Given the description of an element on the screen output the (x, y) to click on. 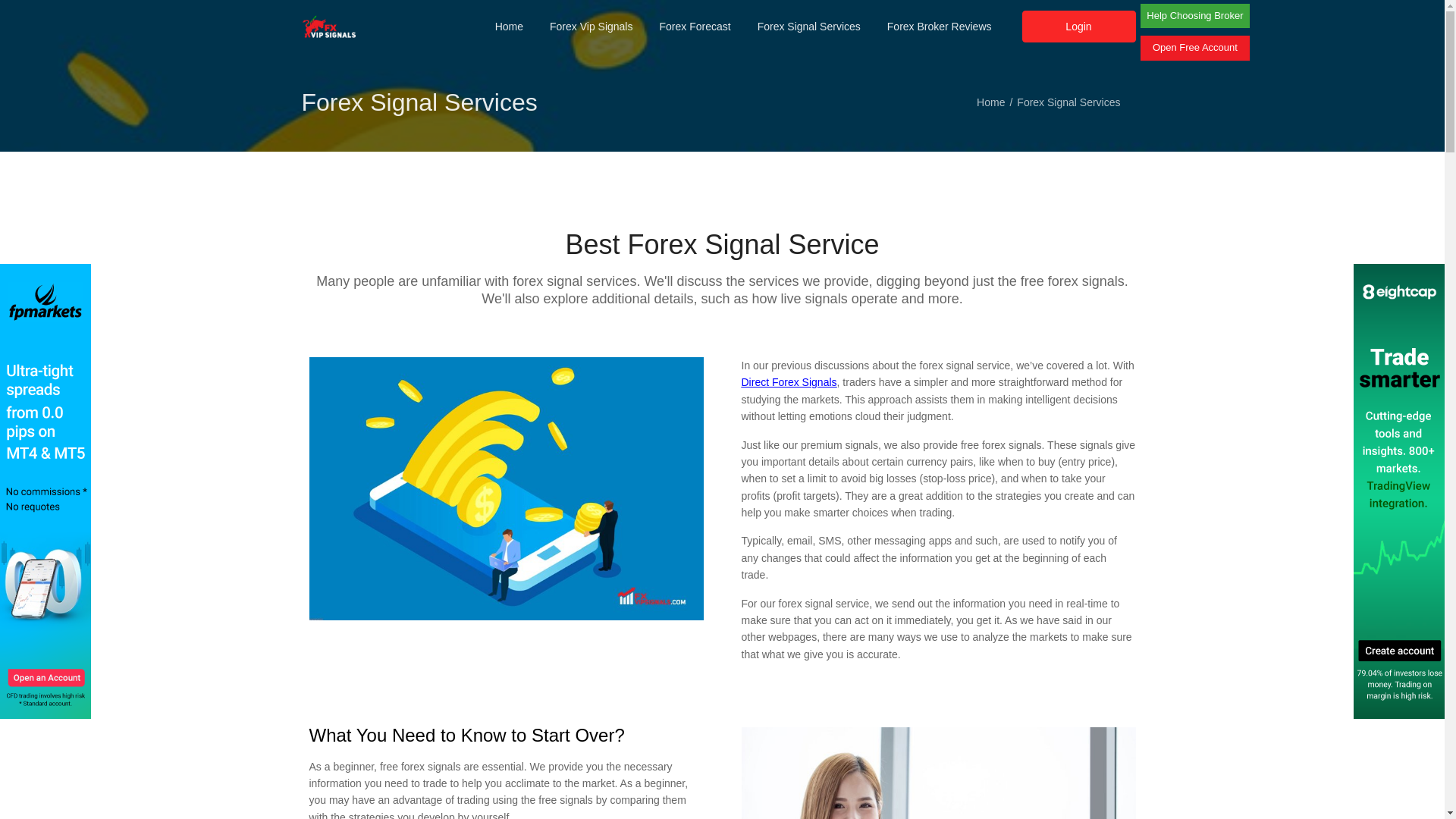
Home (990, 102)
Help Choosing Broker (1194, 15)
Login (1078, 26)
Forex Broker Reviews (938, 26)
Go to Home. (990, 102)
Forex Vip Signals (590, 26)
Open Free Account (1194, 47)
Direct Forex Signals (789, 381)
Forex Signal Services (808, 26)
Forex Forecast (694, 26)
